Given the description of an element on the screen output the (x, y) to click on. 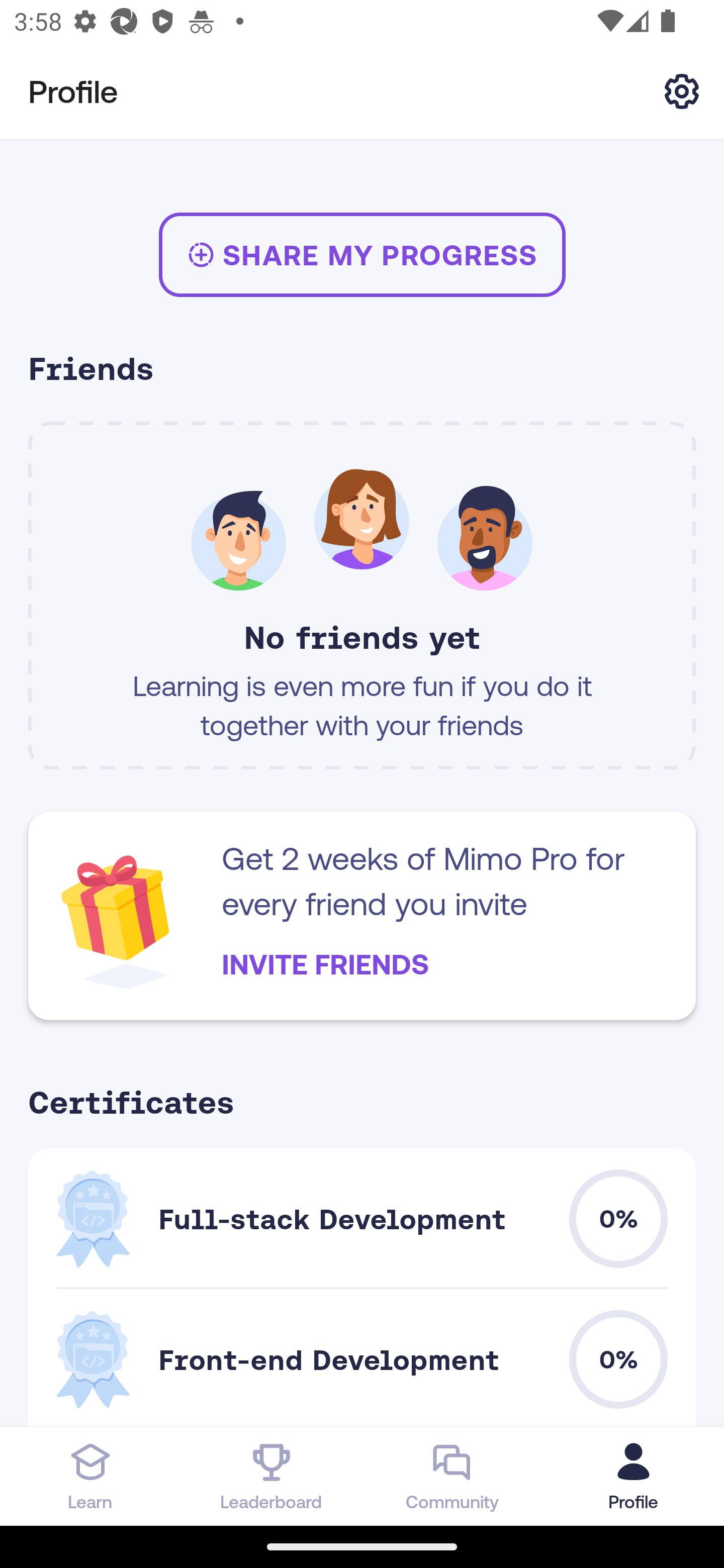
Settings (681, 90)
SHARE MY PROGRESS (361, 254)
Friends (362, 371)
INVITE FRIENDS (325, 963)
Full-stack Development 0.0 0% (361, 1217)
Front-end Development 0.0 0% (361, 1357)
Learn (90, 1475)
Leaderboard (271, 1475)
Community (452, 1475)
